Given the description of an element on the screen output the (x, y) to click on. 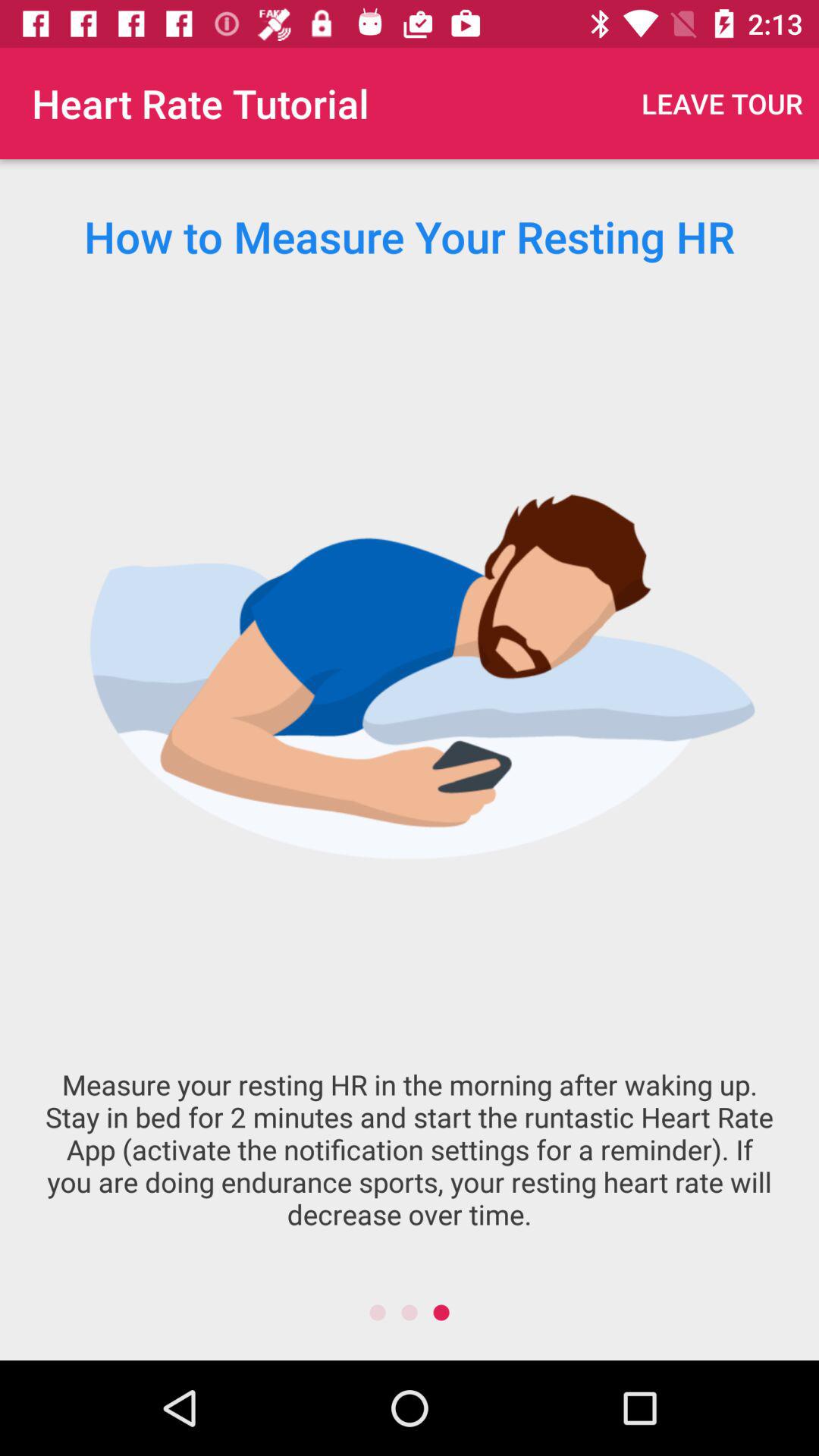
tap the item to the right of the heart rate tutorial item (722, 103)
